Given the description of an element on the screen output the (x, y) to click on. 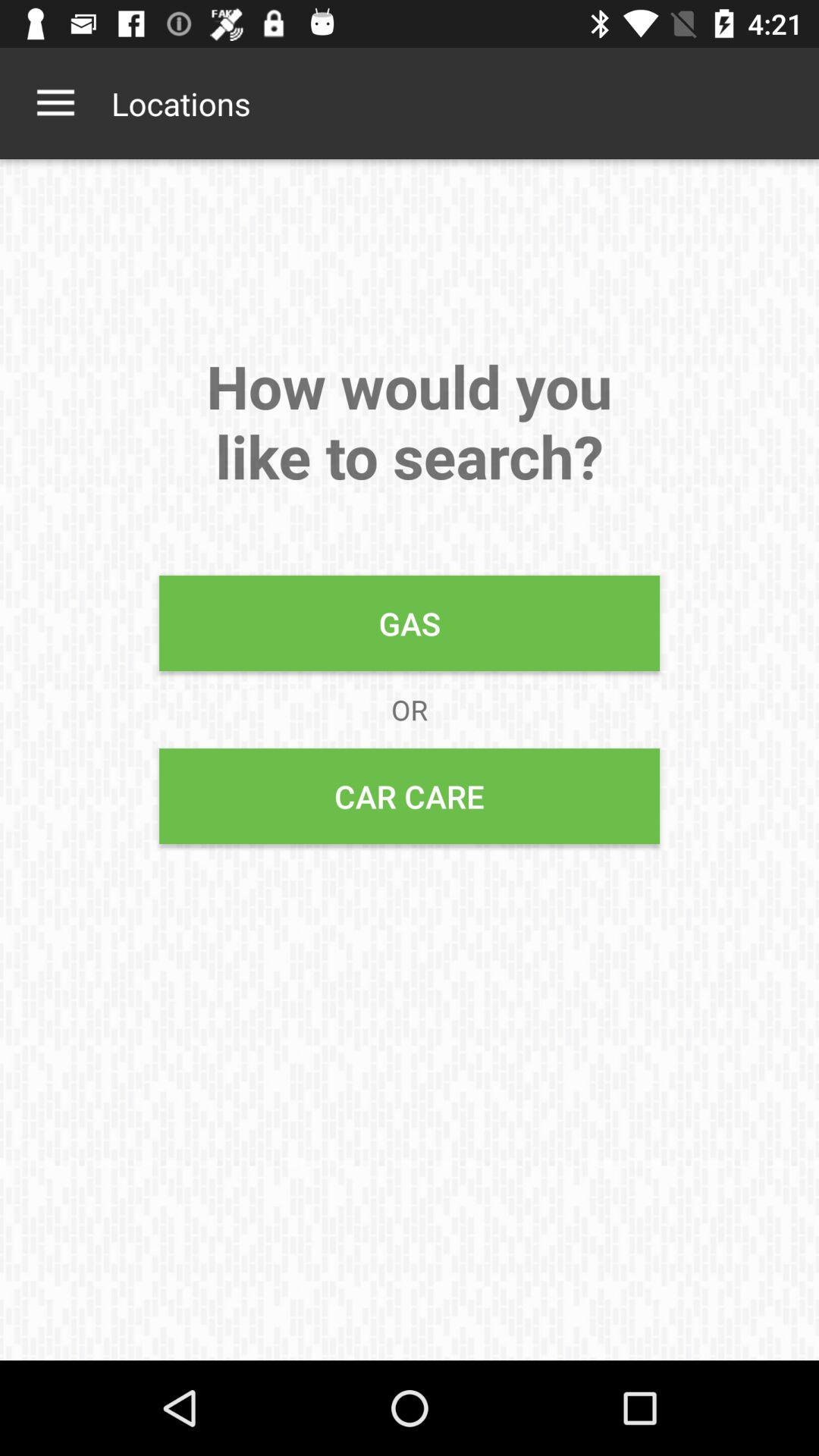
scroll to car care (409, 796)
